Given the description of an element on the screen output the (x, y) to click on. 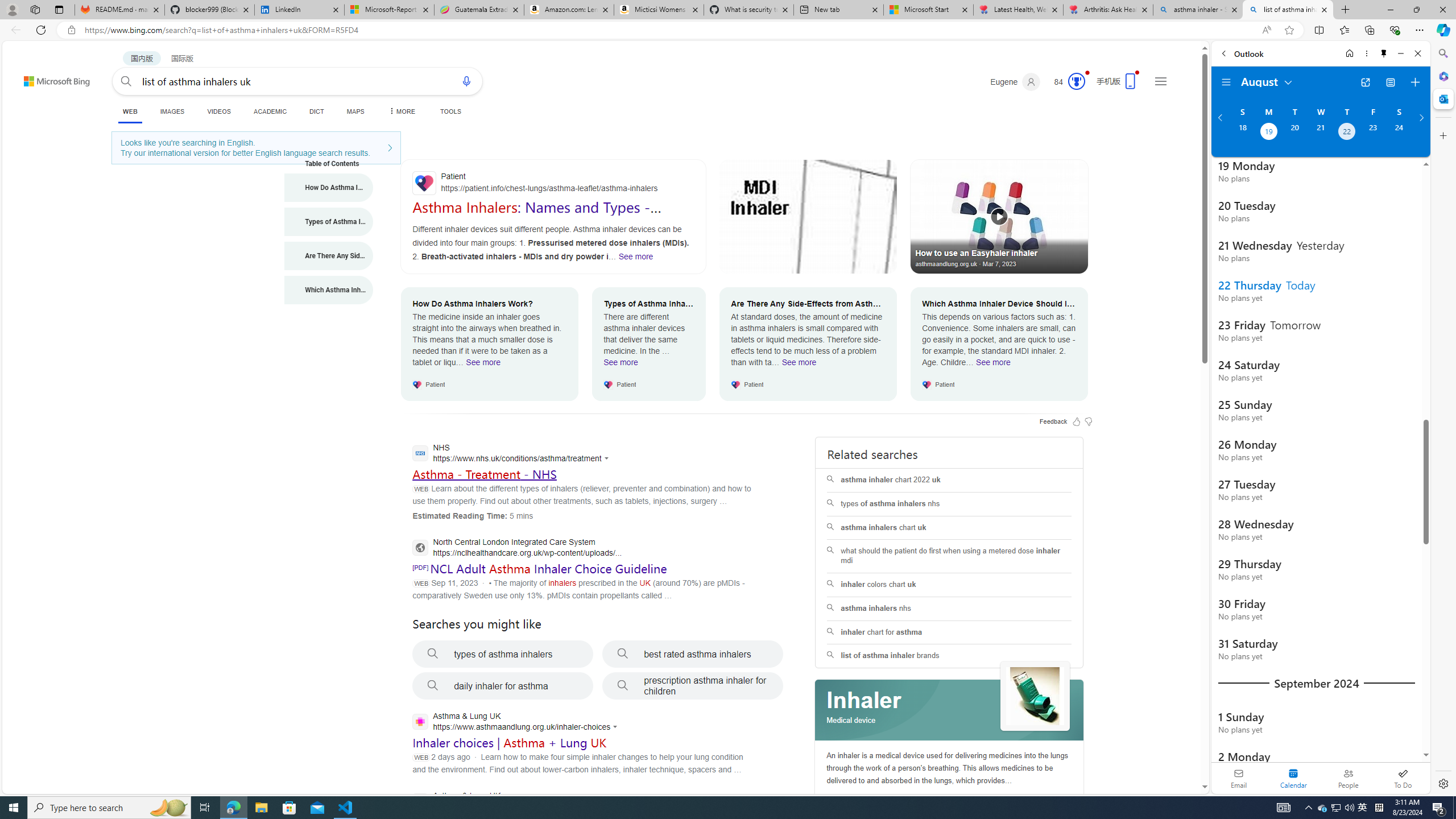
Dropdown Menu (400, 111)
Monday, August 19, 2024. Date selected.  (1268, 132)
Thursday, August 22, 2024. Today.  (1346, 132)
